Given the description of an element on the screen output the (x, y) to click on. 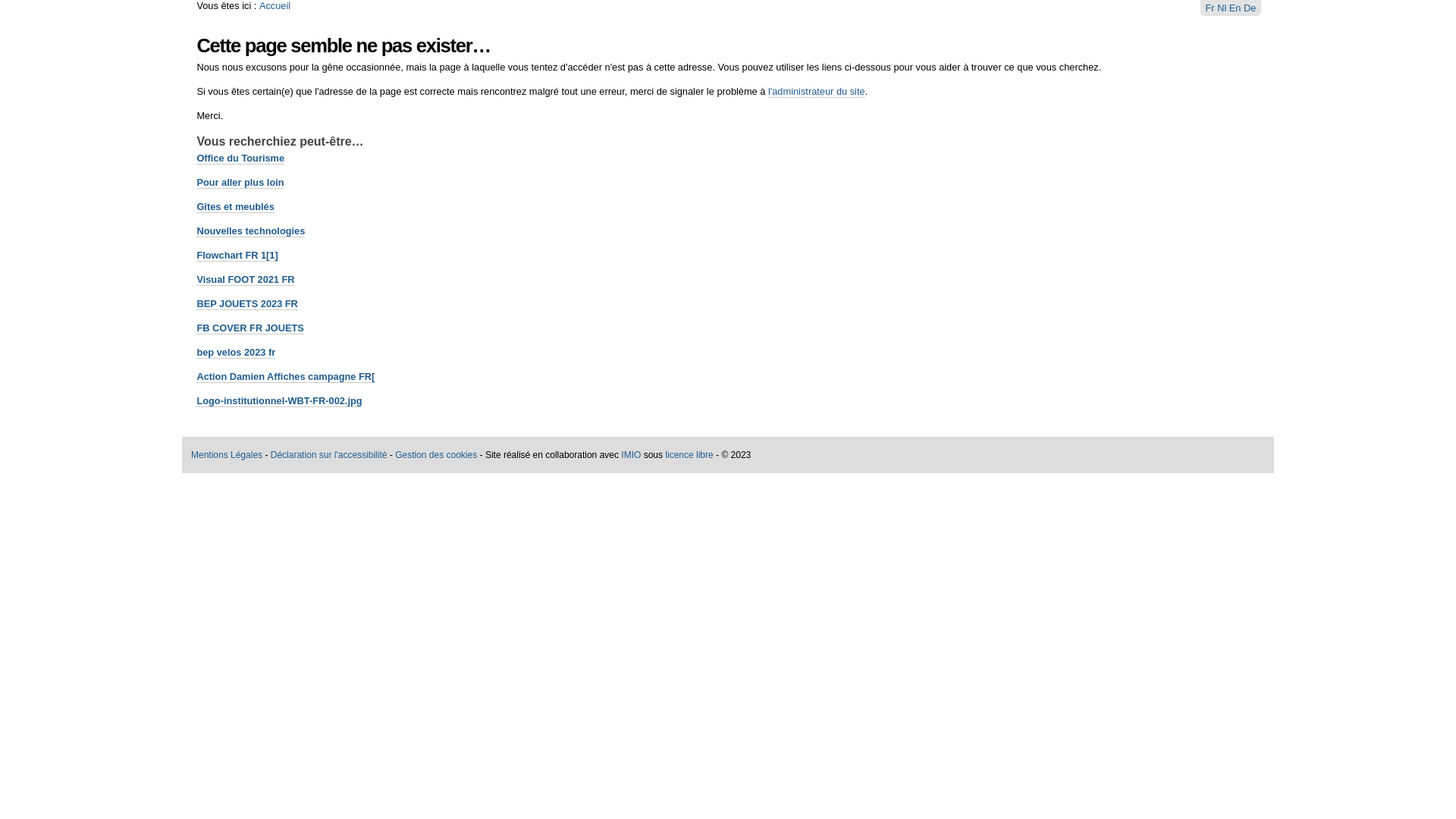
Accueil Element type: text (274, 5)
Visual FOOT 2021 FR Element type: text (245, 279)
En Element type: text (1236, 7)
licence libre Element type: text (688, 454)
Fr Element type: text (1211, 7)
l'administrateur du site Element type: text (816, 91)
Pour aller plus loin Element type: text (239, 182)
bep velos 2023 fr Element type: text (235, 352)
FB COVER FR JOUETS Element type: text (250, 328)
Nouvelles technologies Element type: text (250, 231)
Action Damien Affiches campagne FR[ Element type: text (285, 376)
Flowchart FR 1[1] Element type: text (236, 255)
De Element type: text (1249, 7)
BEP JOUETS 2023 FR Element type: text (246, 304)
Office du Tourisme Element type: text (240, 158)
Nl Element type: text (1223, 7)
Gestion des cookies Element type: text (435, 454)
IMIO Element type: text (630, 454)
Logo-institutionnel-WBT-FR-002.jpg Element type: text (278, 401)
